Given the description of an element on the screen output the (x, y) to click on. 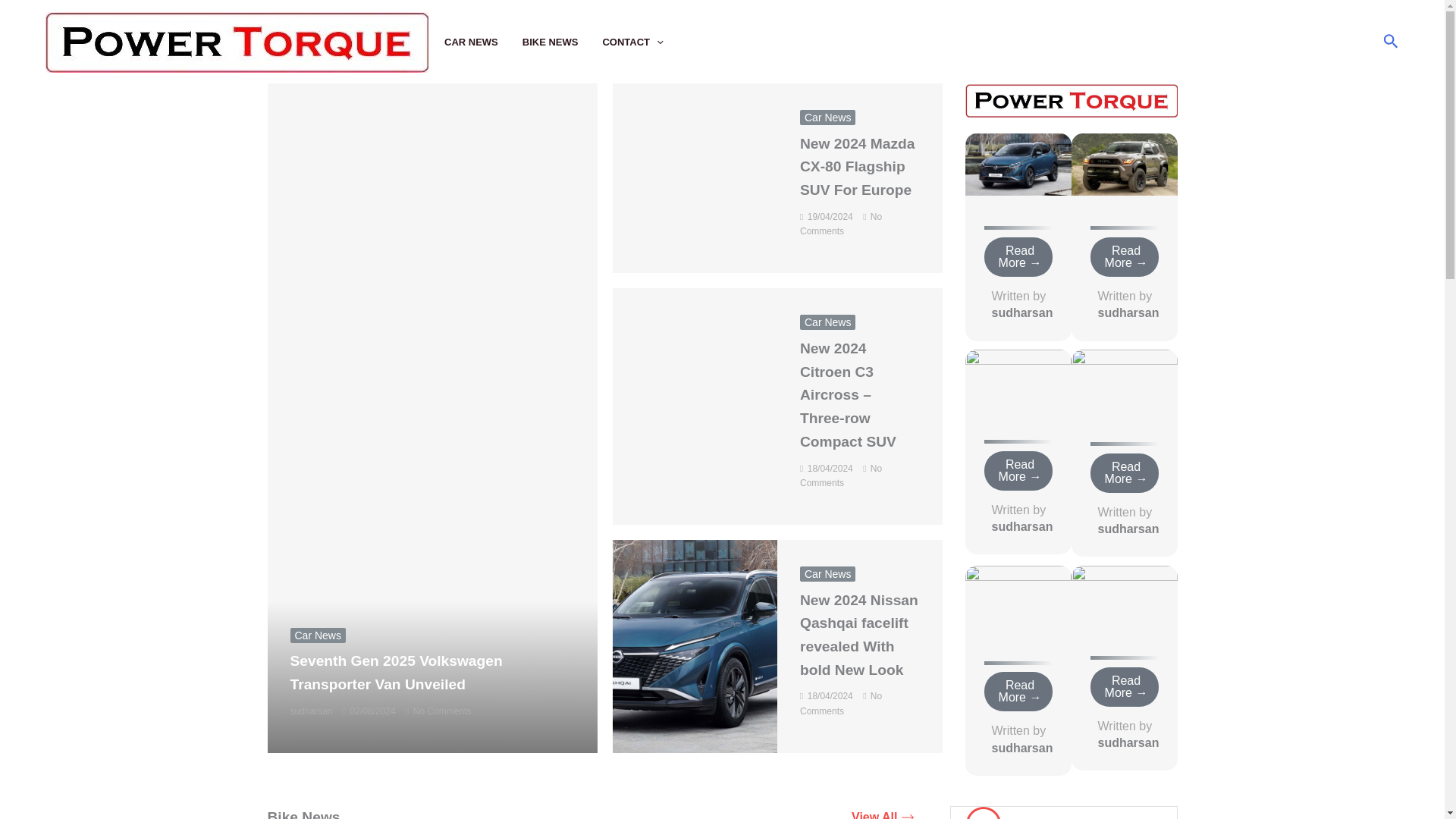
Car News (827, 117)
sudharsan (310, 710)
CONTACT (644, 42)
Posts by sudharsan (310, 710)
New 2024 Nissan Qashqai facelift revealed With bold New Look (1016, 163)
Car News (827, 573)
CAR NEWS (483, 42)
Seventh Gen 2025 Volkswagen Transporter Van Unveiled (395, 672)
BIKE NEWS (562, 42)
2023 Mazda CX-90 SUV PHEV Teases (1016, 596)
New 2024 Mazda CX-80 Flagship SUV For Europe (856, 166)
New 2024 Nissan Qashqai facelift revealed With bold New Look (858, 635)
New 2023 Subaru Forester XT-Edition Debuts In Japan (1016, 378)
New Generation Toyota 4Runner 2025 Rugged Off Roader SUV (1123, 163)
2023 Mercedes-Maybach S680 Haute Voiture sedan debuts (1123, 594)
